Given the description of an element on the screen output the (x, y) to click on. 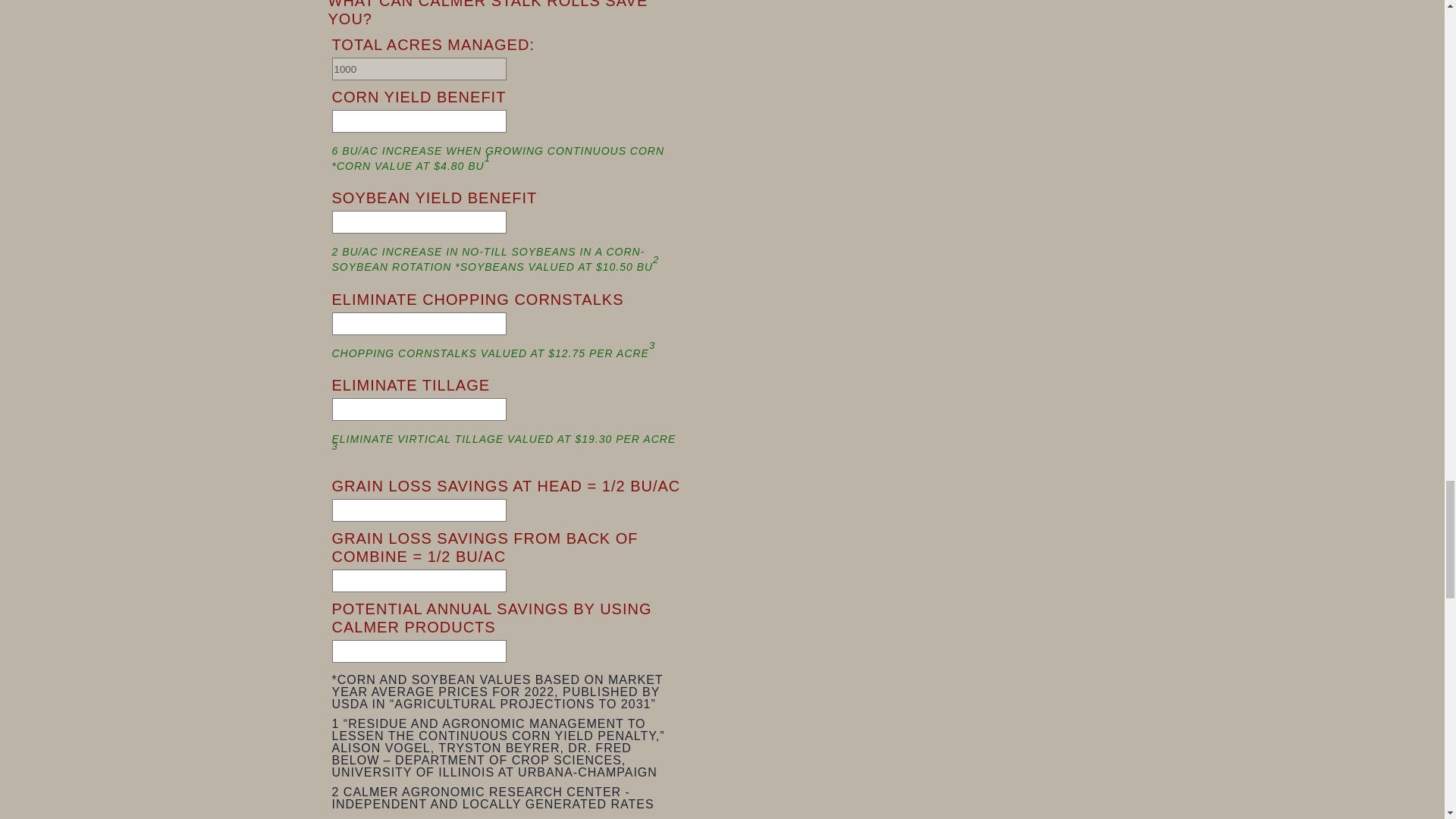
1000 (418, 68)
